Given the description of an element on the screen output the (x, y) to click on. 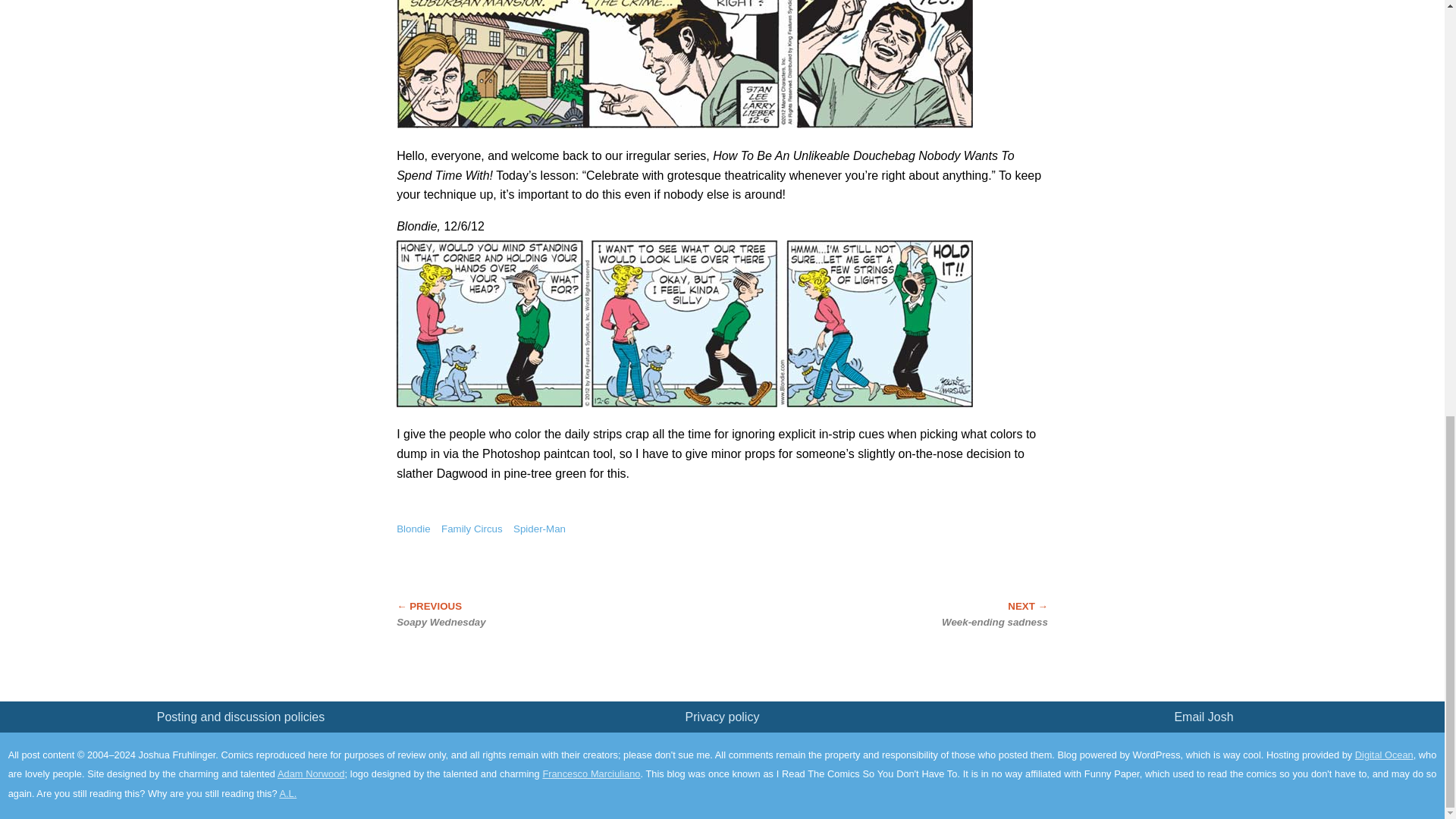
Email Josh (1203, 716)
Blondie (412, 528)
Posting and discussion policies (240, 716)
A.L. (288, 793)
Francesco Marciuliano (590, 773)
Week-ending sadness (921, 614)
Spider-Man (539, 528)
Soapy Wednesday (522, 614)
Adam Norwood (310, 773)
Digital Ocean (1384, 754)
Privacy policy (722, 716)
Family Circus (471, 528)
